Given the description of an element on the screen output the (x, y) to click on. 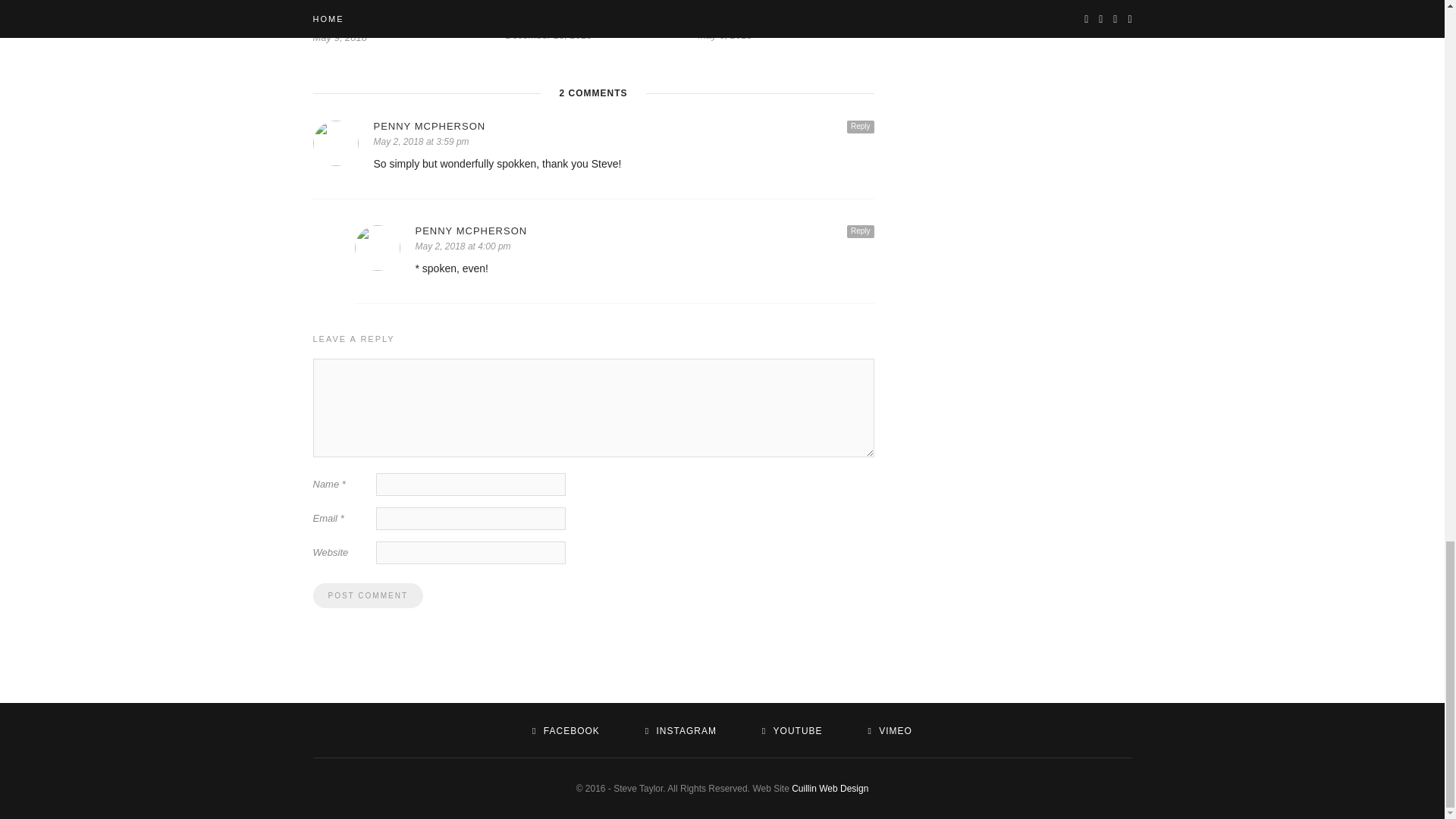
INSTAGRAM (680, 730)
YOUTUBE (791, 730)
Post Comment (367, 595)
Post Comment (367, 595)
The Dew Of Light (546, 19)
VIMEO (889, 730)
FACEBOOK (565, 730)
Reply (861, 126)
Reply (861, 231)
